Given the description of an element on the screen output the (x, y) to click on. 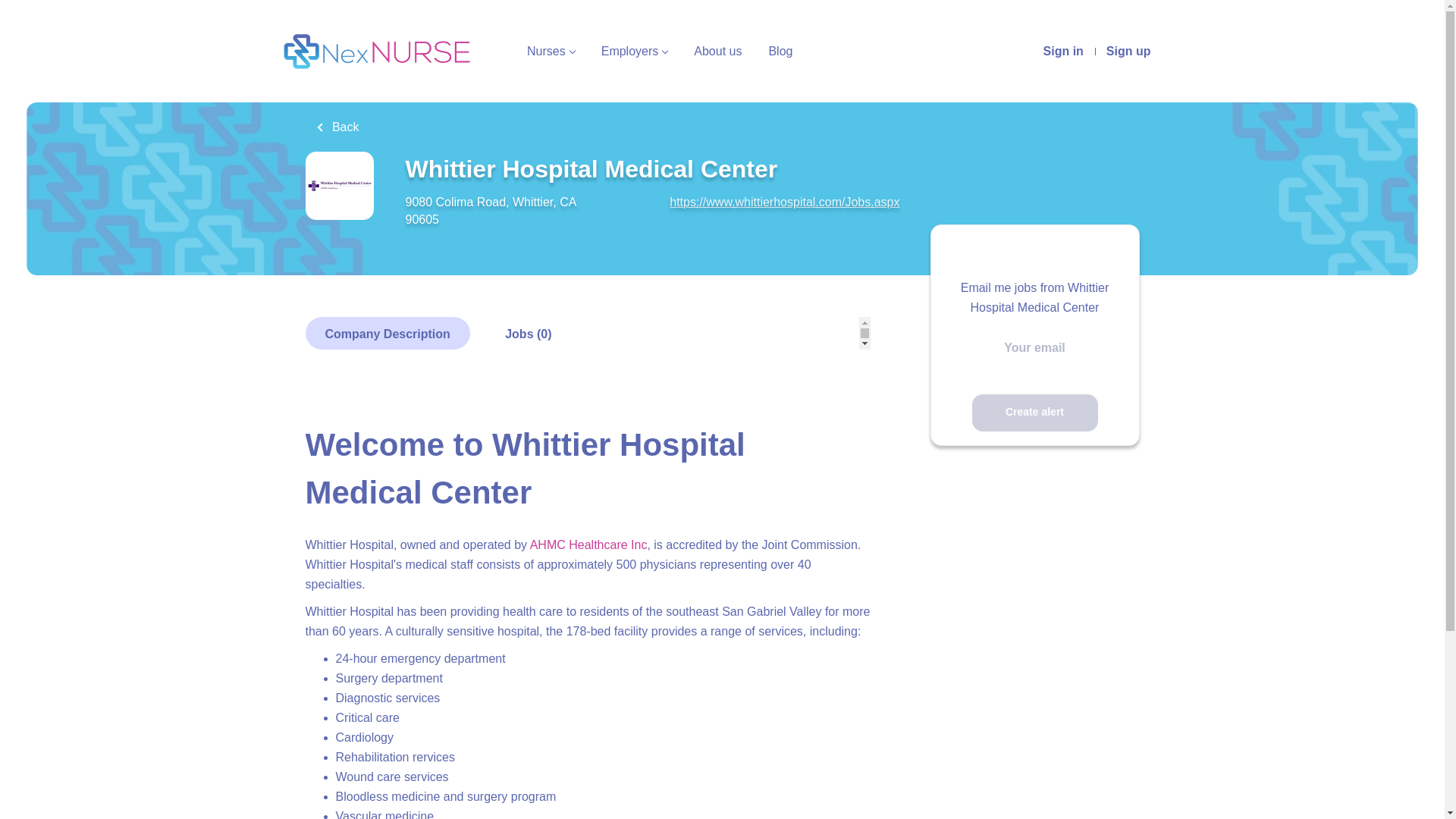
About us (717, 51)
Create alert (1034, 412)
AHMC Healthcare Inc (588, 544)
Nurses (551, 51)
Employers (634, 51)
Sign in (1063, 51)
Company Description (386, 332)
Back (336, 127)
Blog (780, 51)
Sign up (1128, 51)
